Given the description of an element on the screen output the (x, y) to click on. 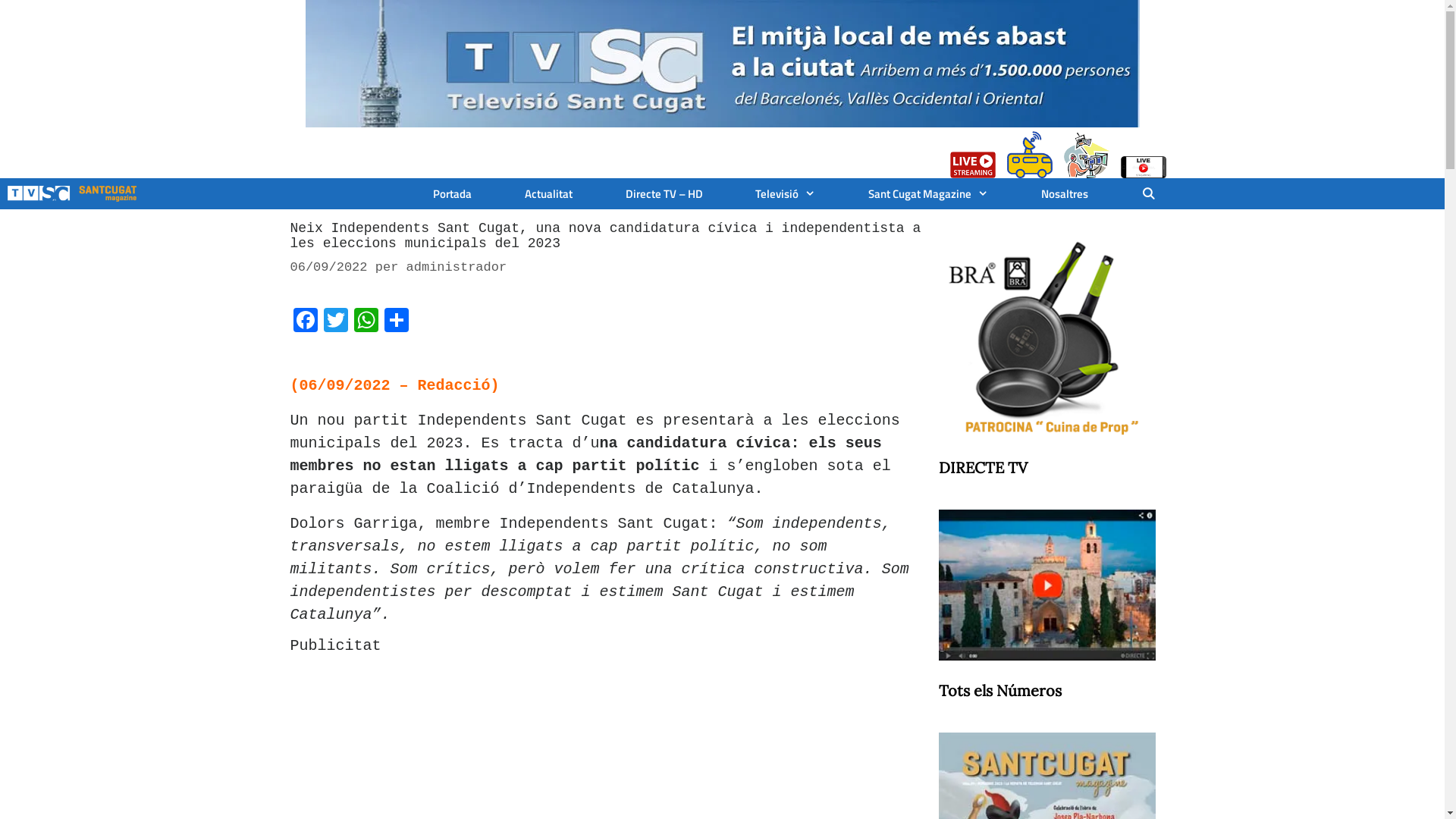
Facebook Element type: text (304, 322)
Comparteix Element type: text (395, 322)
Nosaltres Element type: text (1064, 193)
Actualitat Element type: text (548, 193)
TV SantCugat.cat Element type: hover (72, 193)
Sant Cugat Magazine Element type: text (928, 193)
administrador Element type: text (456, 267)
Portada Element type: text (451, 193)
Twitter Element type: text (335, 322)
WhatsApp Element type: text (365, 322)
